Given the description of an element on the screen output the (x, y) to click on. 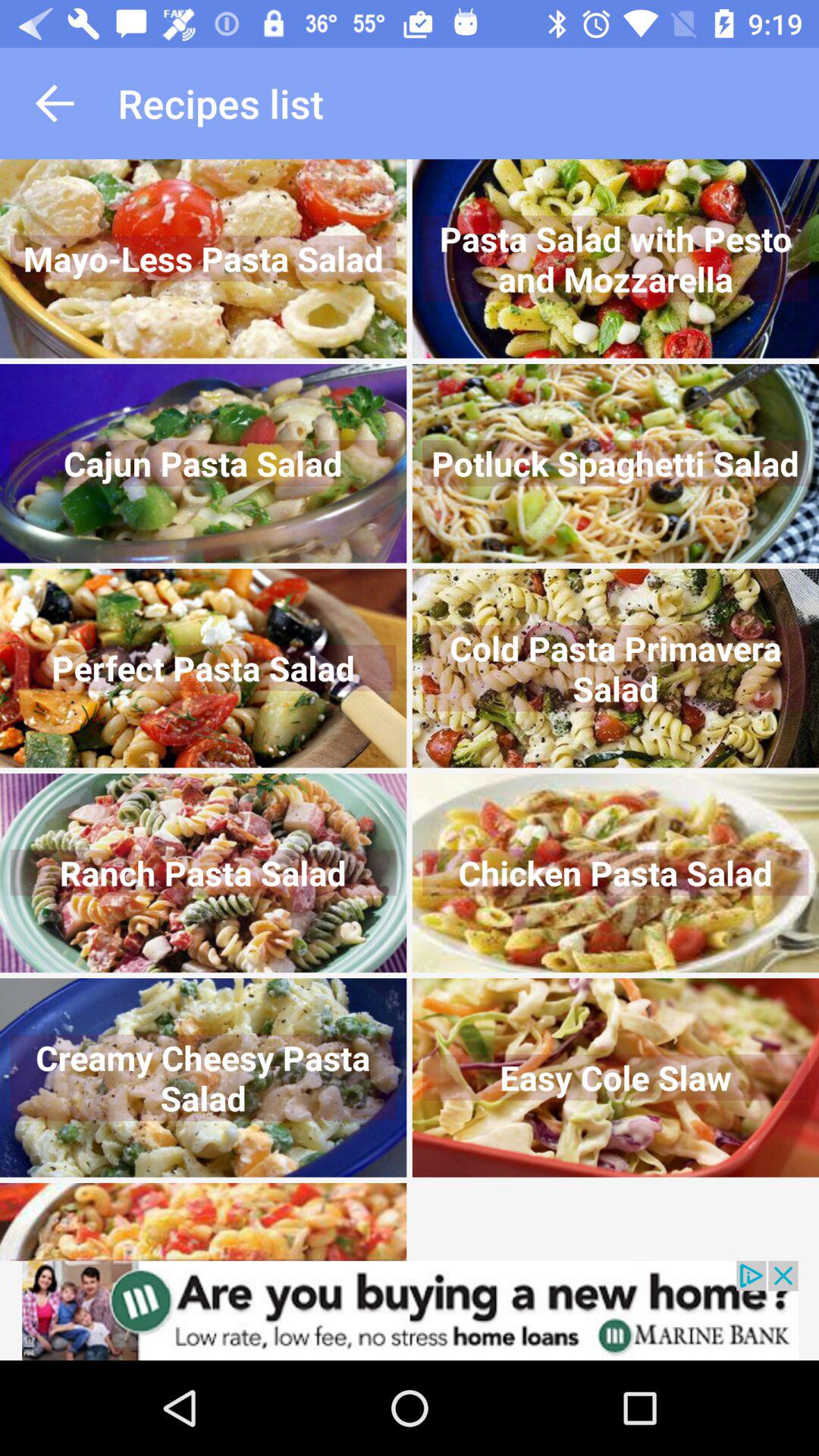
click on the first image on bottom right (615, 1077)
select the image second column right side (615, 463)
click on the first image from right top of the page (615, 258)
